Given the description of an element on the screen output the (x, y) to click on. 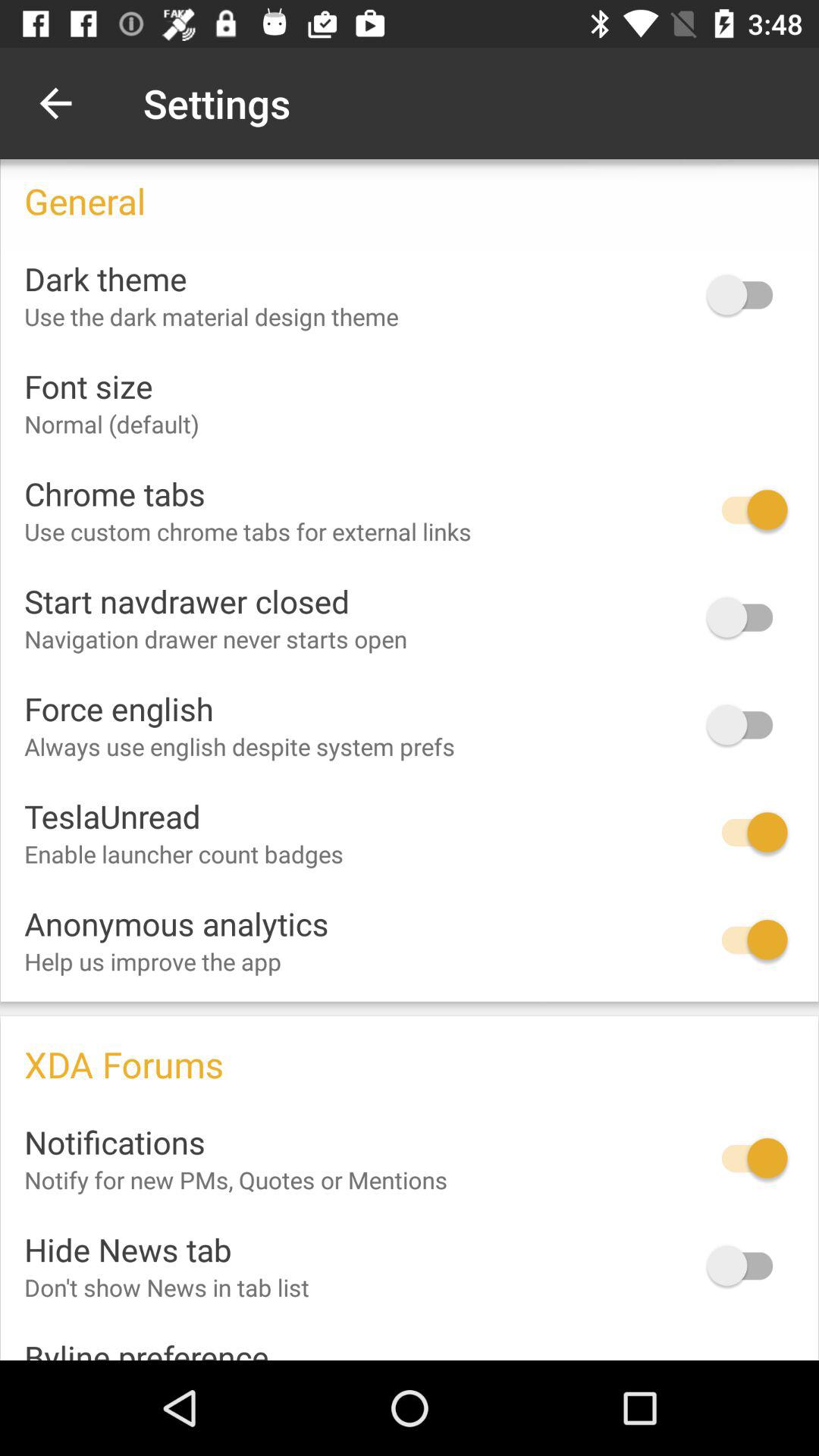
tap app next to settings app (55, 103)
